Given the description of an element on the screen output the (x, y) to click on. 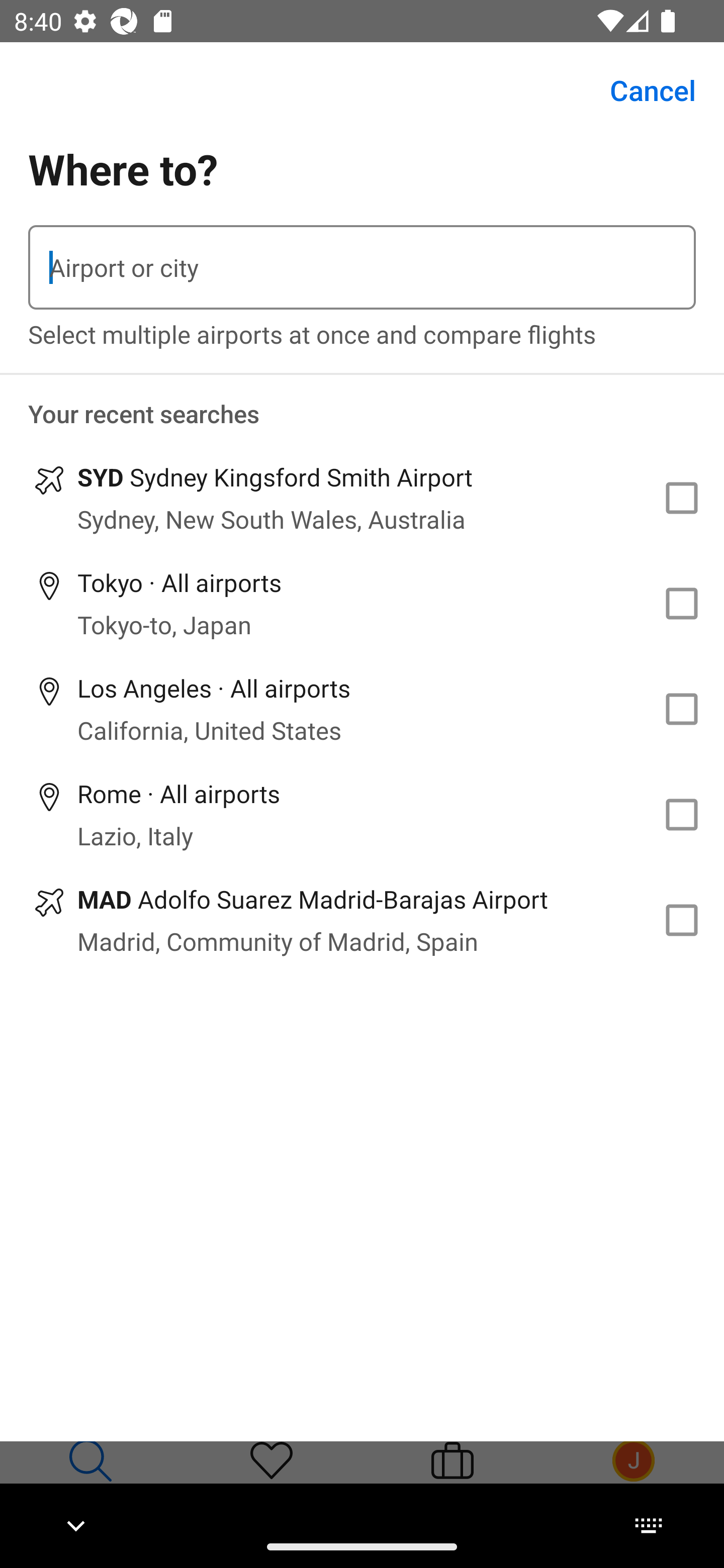
Cancel (641, 90)
Airport or city (361, 266)
Tokyo · All airports Tokyo-to, Japan (362, 603)
Rome · All airports Lazio, Italy (362, 814)
